Given the description of an element on the screen output the (x, y) to click on. 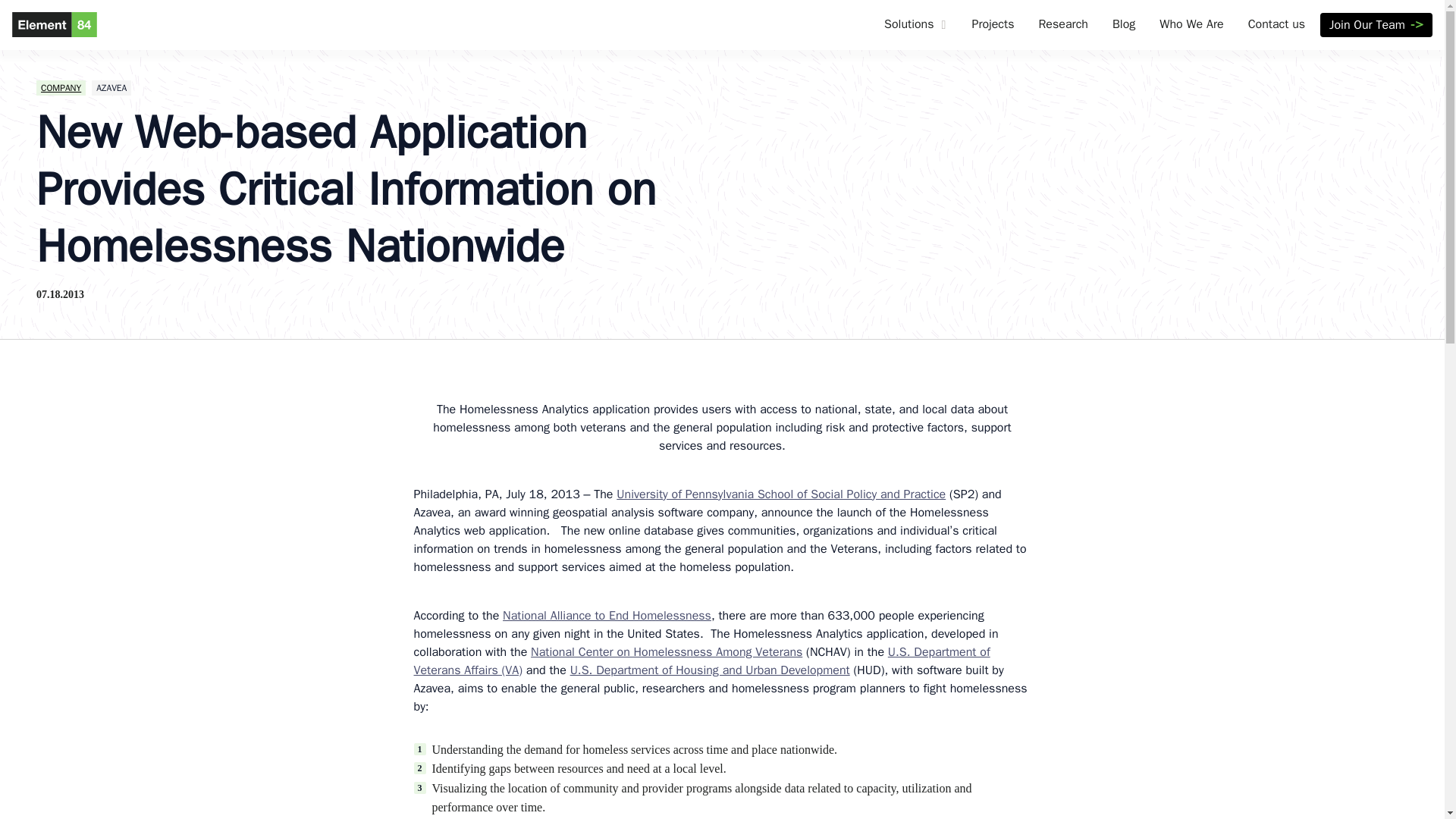
National Center on Homelessness Among Veterans (666, 652)
Blog (1123, 25)
COMPANY (60, 87)
Who We Are (1190, 25)
Solutions (908, 25)
Join Our Team (1376, 24)
U.S. Department of Housing and Urban Development (710, 670)
Projects (993, 25)
National Alliance to End Homelessness (606, 615)
Research (1062, 25)
